Given the description of an element on the screen output the (x, y) to click on. 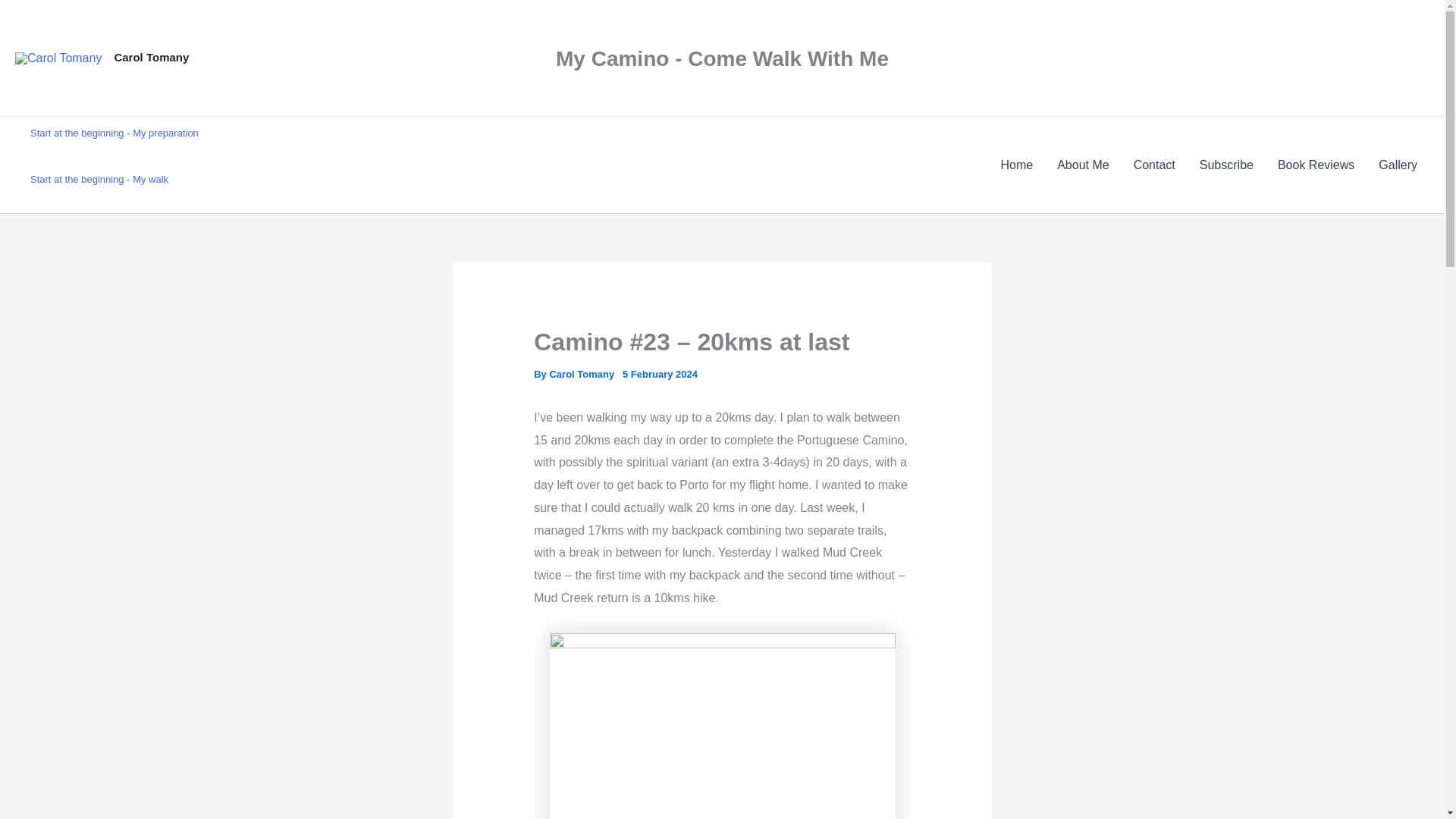
Carol Tomany (151, 56)
View all posts by Carol Tomany (581, 374)
Contact (1154, 165)
About Me (1083, 165)
Carol Tomany (581, 374)
Gallery (1398, 165)
Start at the beginning - My preparation (114, 132)
Book Reviews (1316, 165)
Home (1016, 165)
Subscribe (1226, 165)
